Given the description of an element on the screen output the (x, y) to click on. 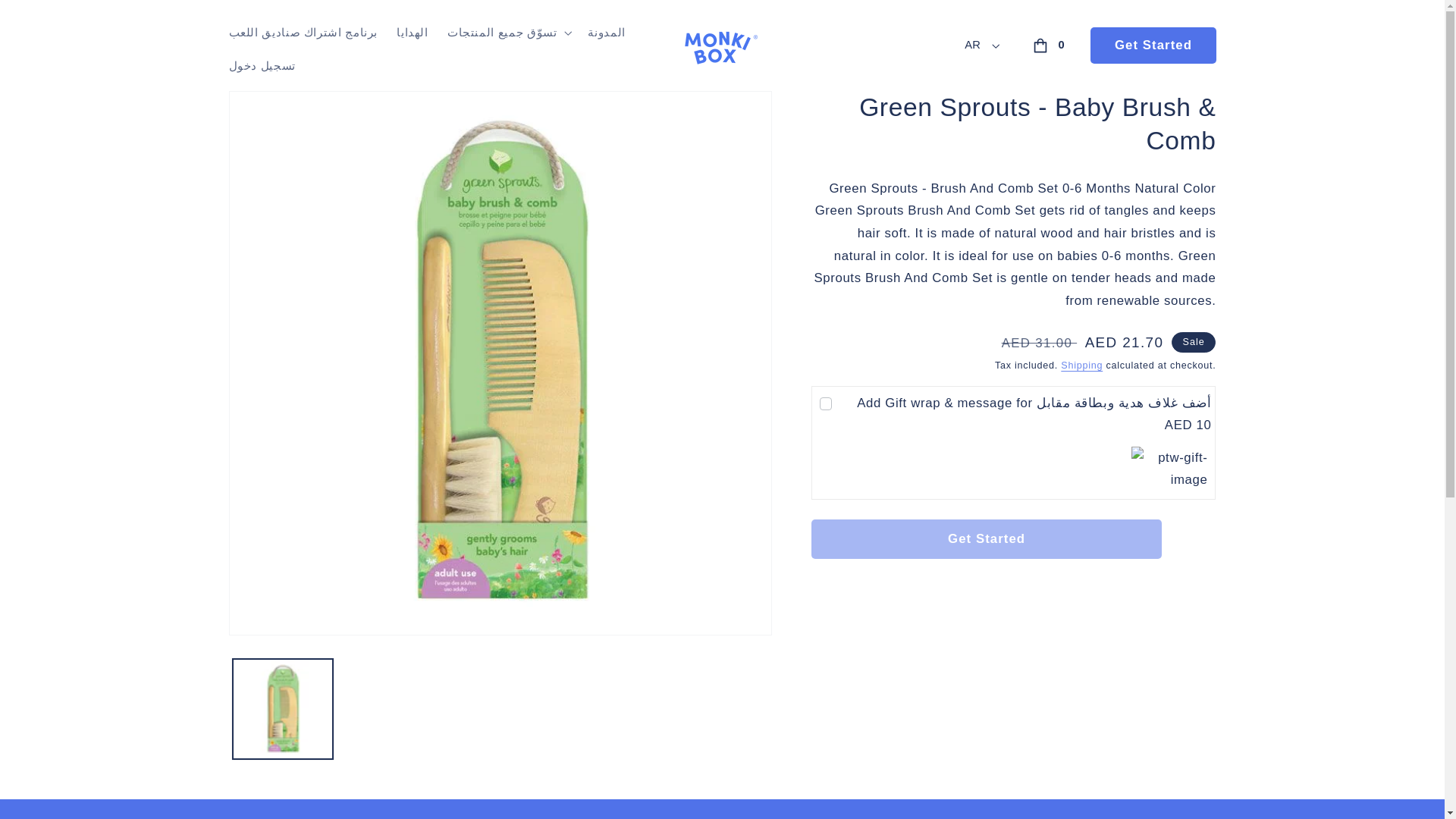
Shipping (1081, 365)
AR (979, 45)
Skip to product information (277, 108)
on (1050, 45)
Get Started (825, 403)
Get Started (1152, 45)
Skip to content (985, 538)
